Given the description of an element on the screen output the (x, y) to click on. 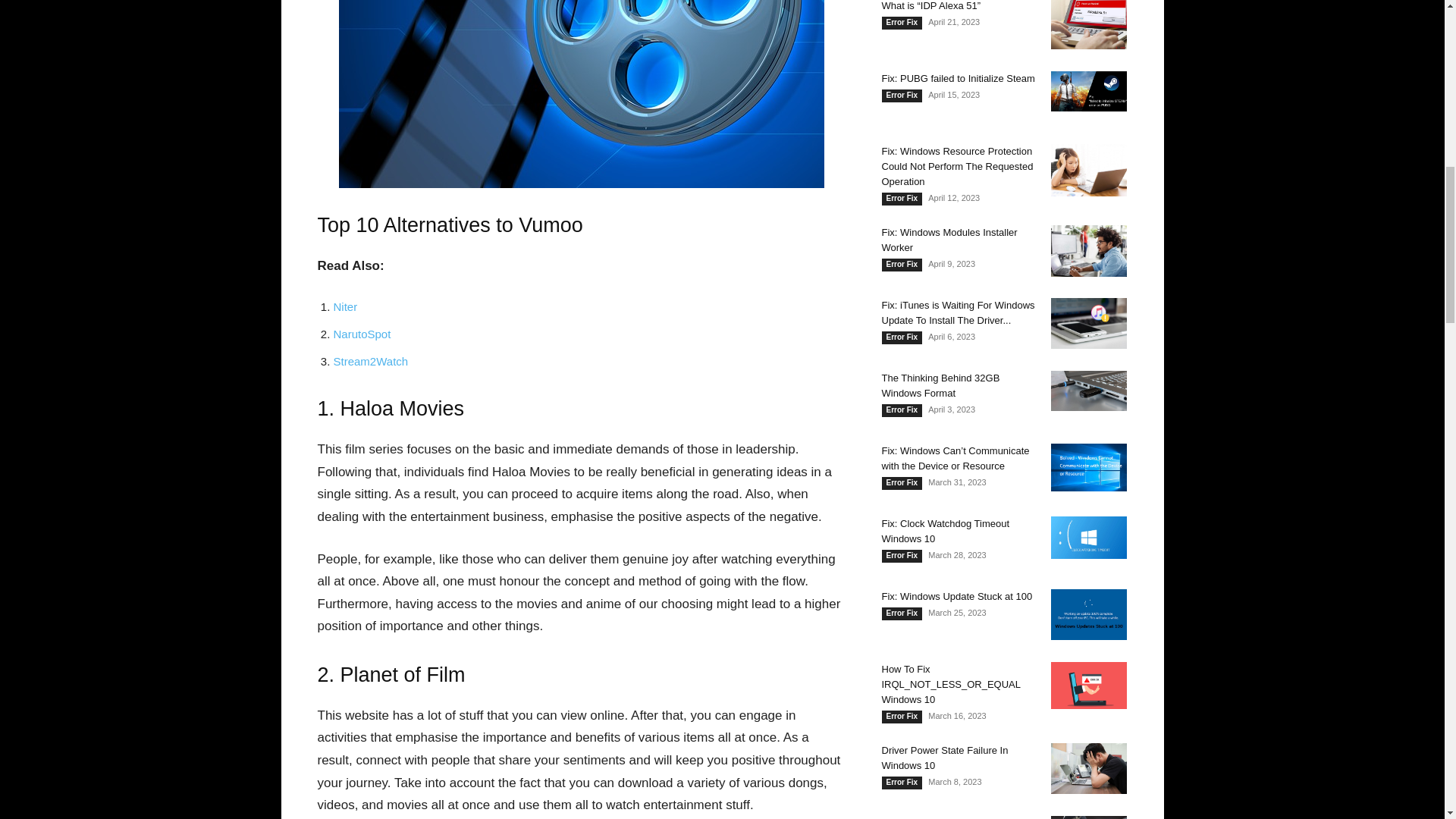
Stream2Watch (371, 360)
NarutoSpot (362, 333)
Niter (345, 306)
